Given the description of an element on the screen output the (x, y) to click on. 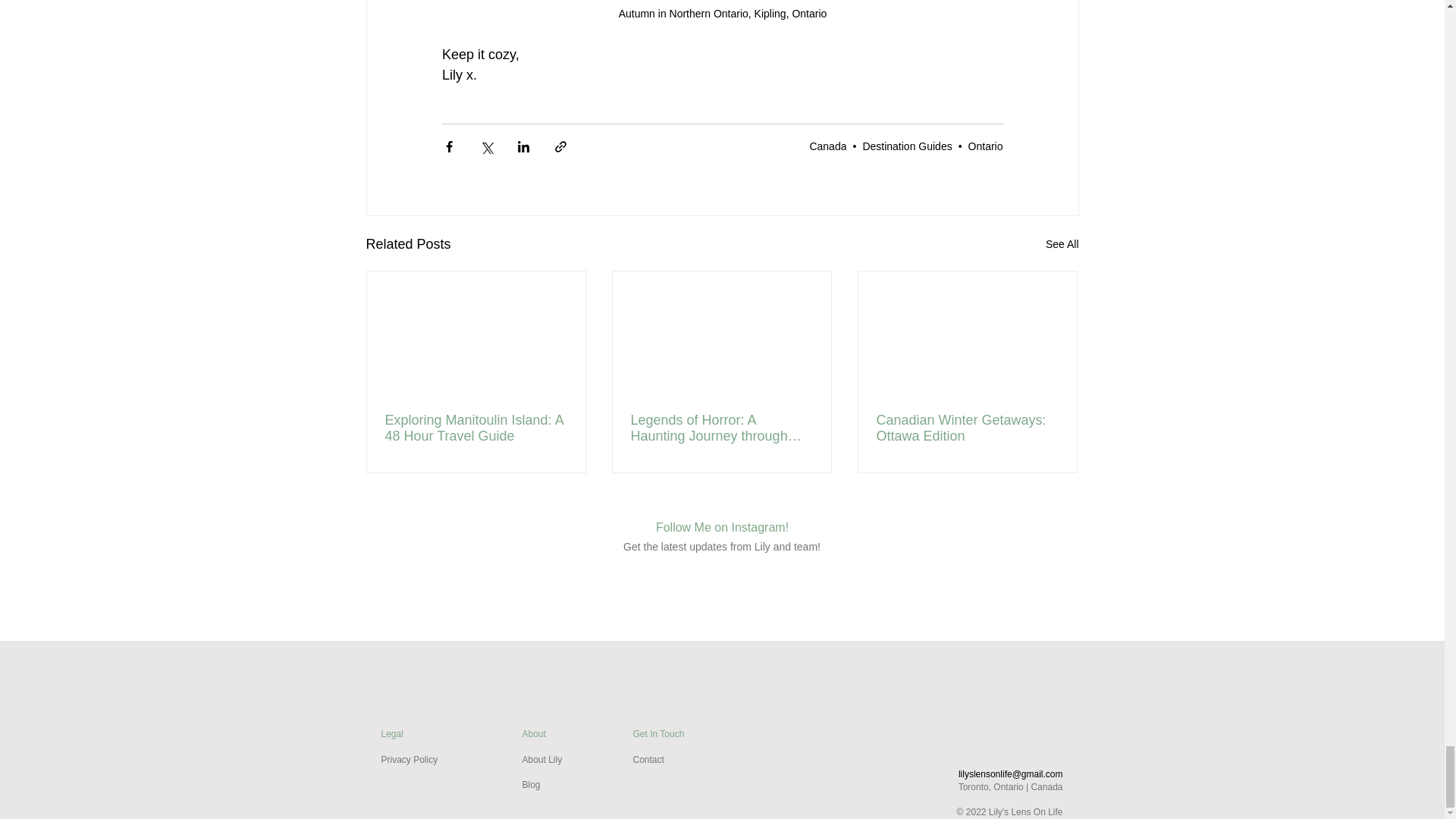
About Lily (541, 759)
Canadian Winter Getaways: Ottawa Edition (967, 428)
See All (1061, 244)
Legends of Horror: A Haunting Journey through Casa Loma (721, 428)
Canada (827, 146)
Ontario (985, 146)
Destination Guides (906, 146)
Exploring Manitoulin Island: A 48 Hour Travel Guide (476, 428)
Privacy Policy (409, 759)
Blog (530, 784)
